Given the description of an element on the screen output the (x, y) to click on. 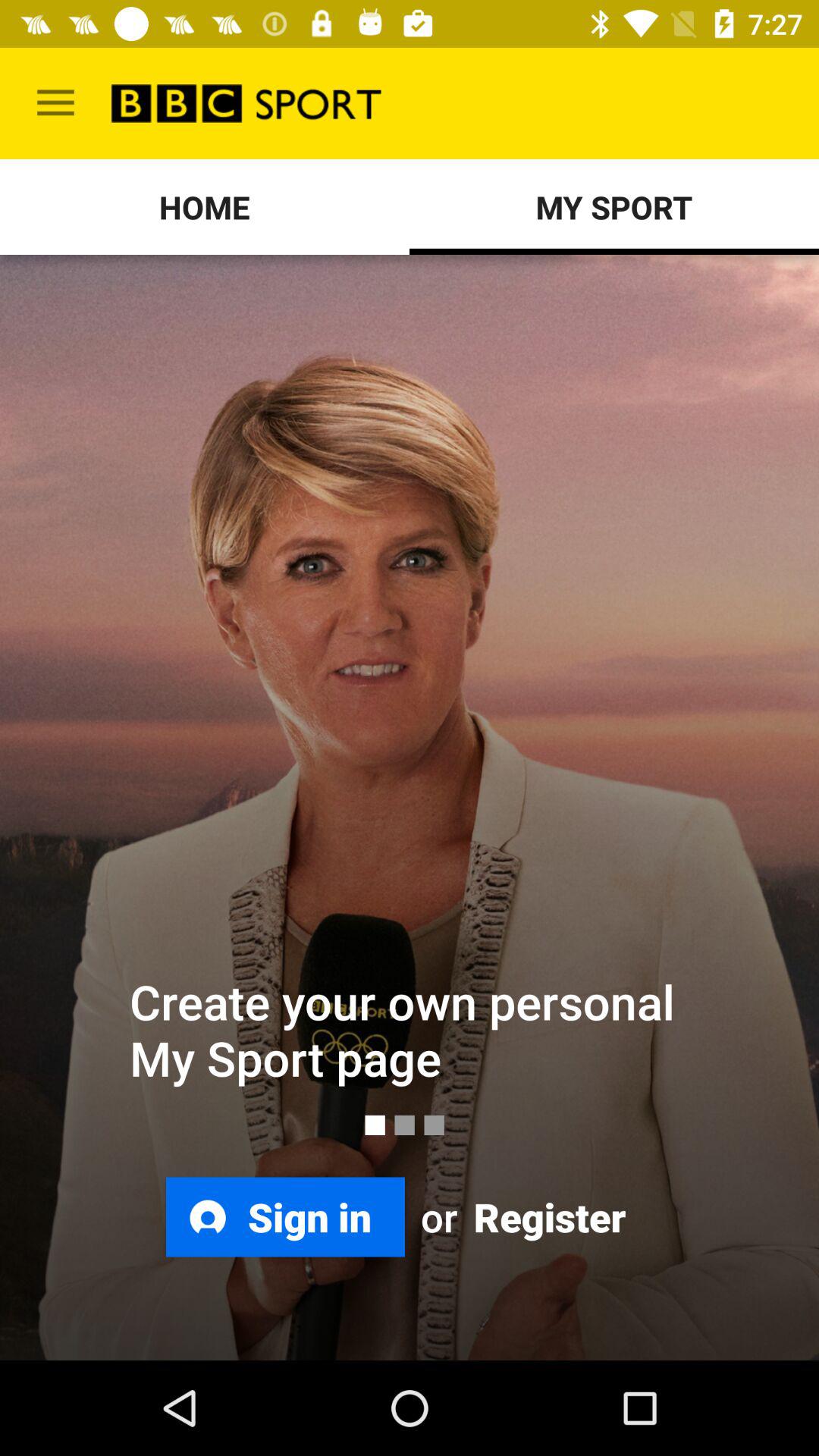
choose icon next to or item (547, 1216)
